Given the description of an element on the screen output the (x, y) to click on. 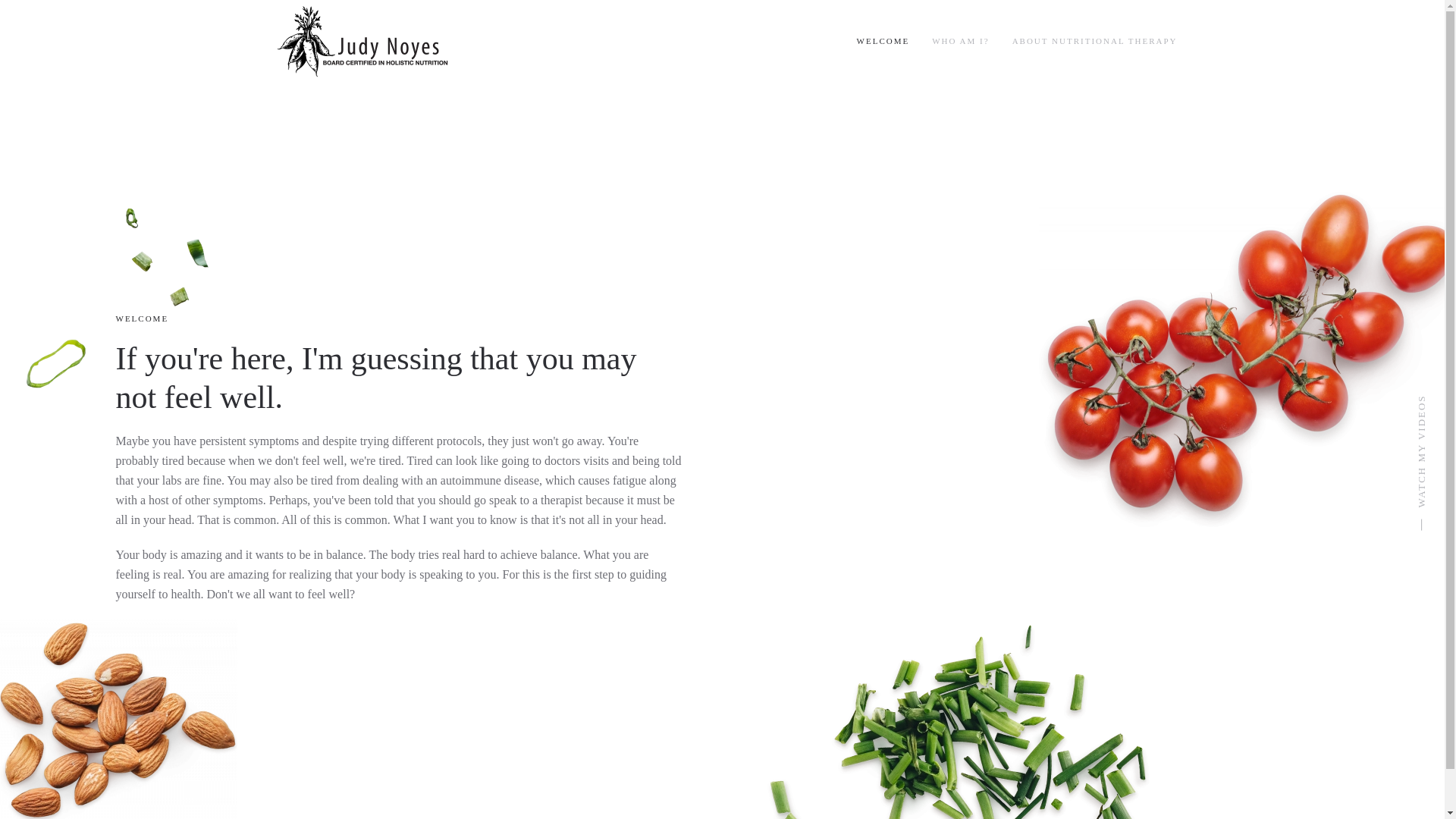
ABOUT NUTRITIONAL THERAPY (1094, 41)
WHO AM I? (959, 41)
